Given the description of an element on the screen output the (x, y) to click on. 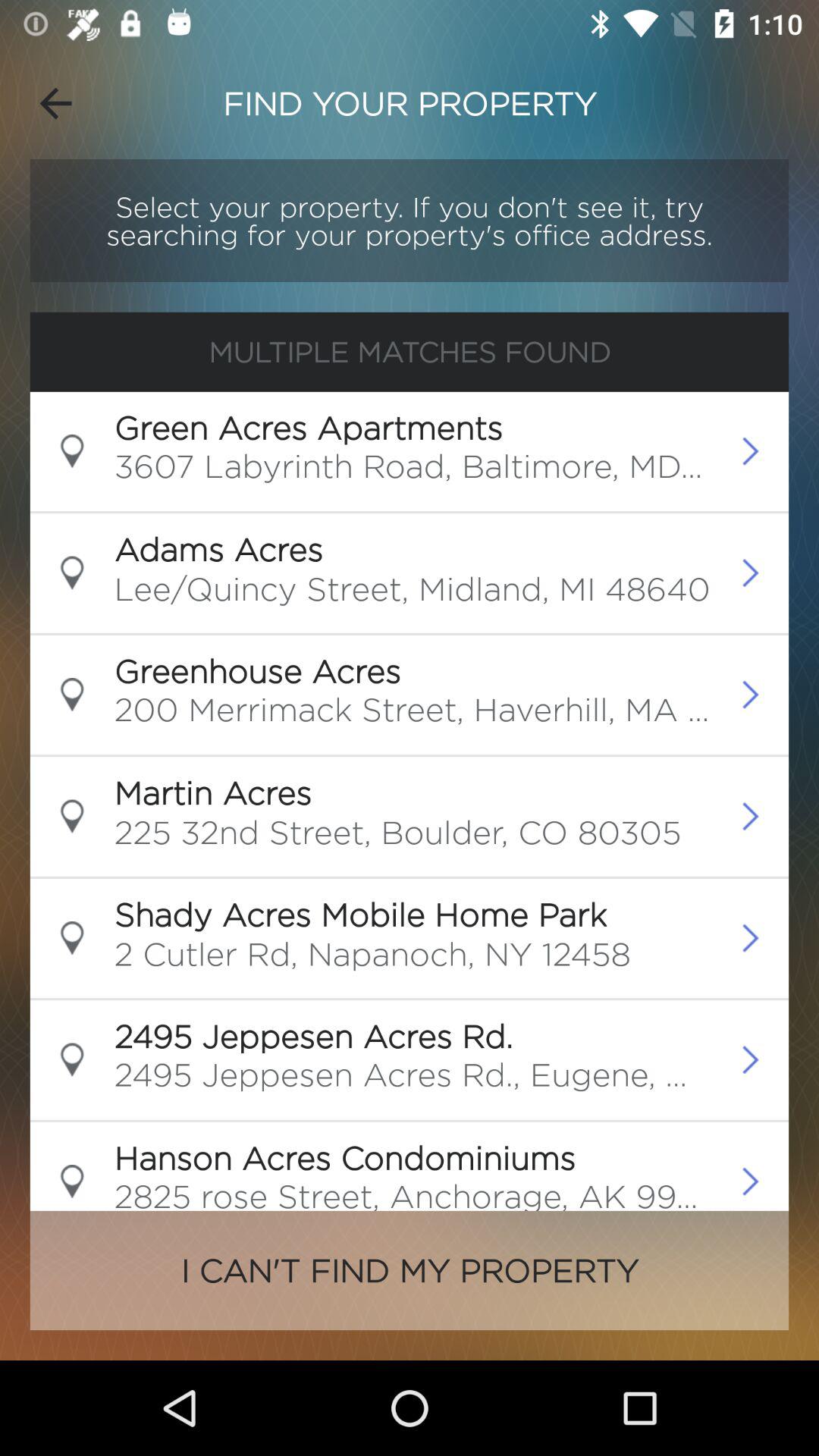
tap app next to find your property icon (55, 103)
